Given the description of an element on the screen output the (x, y) to click on. 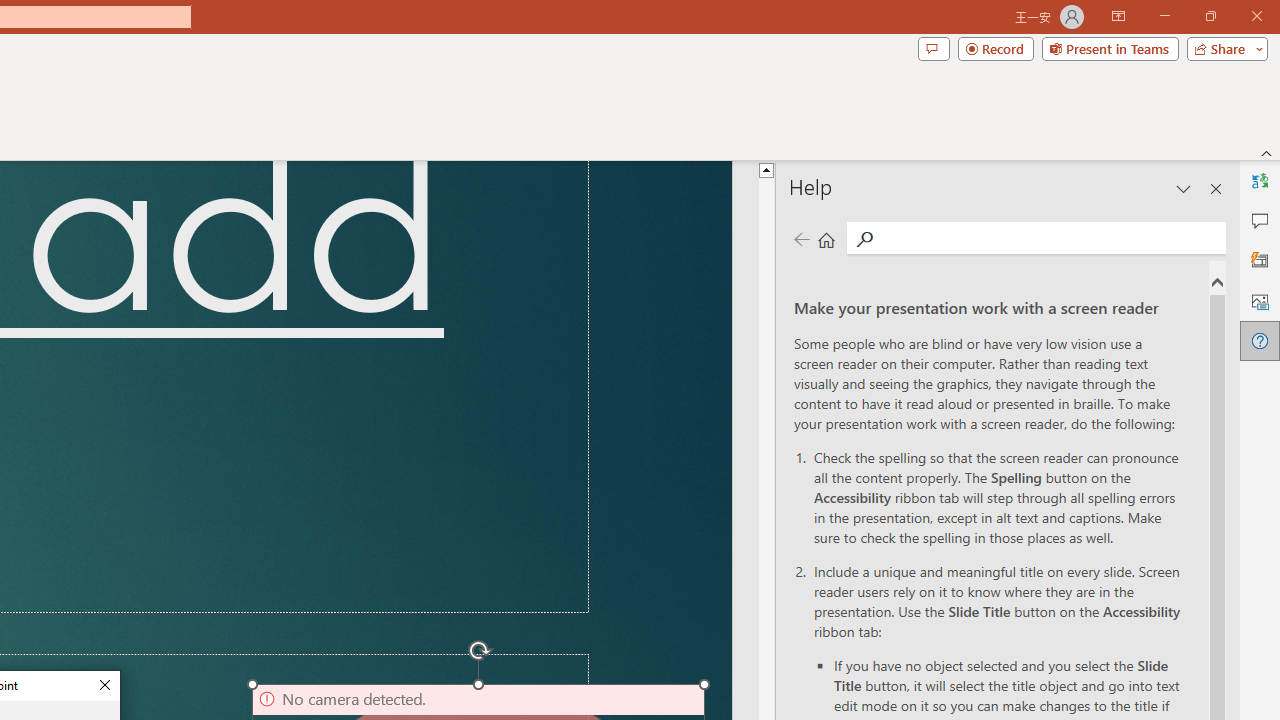
Alt Text (1260, 300)
